Given the description of an element on the screen output the (x, y) to click on. 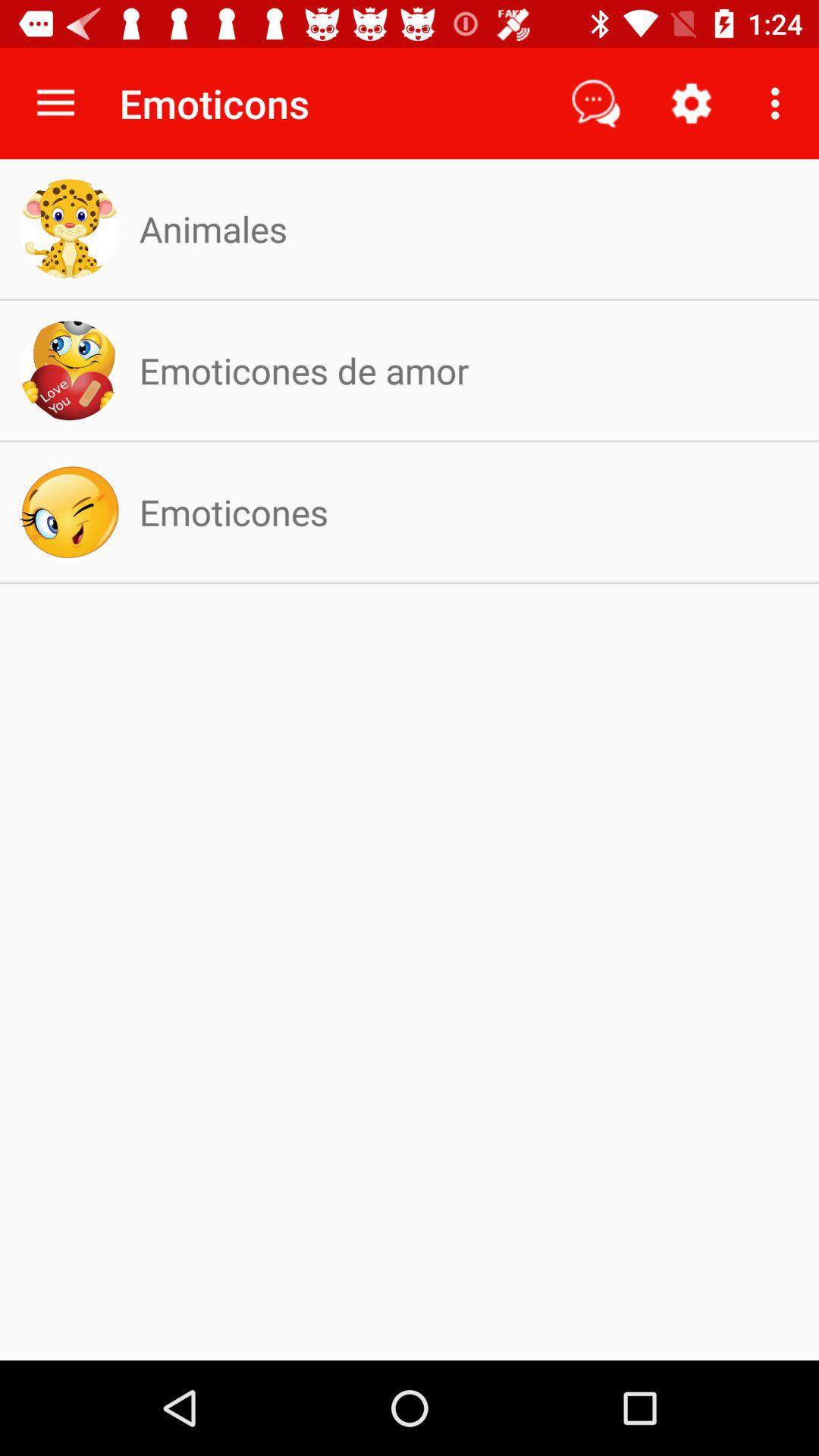
press icon next to emoticons icon (595, 103)
